Given the description of an element on the screen output the (x, y) to click on. 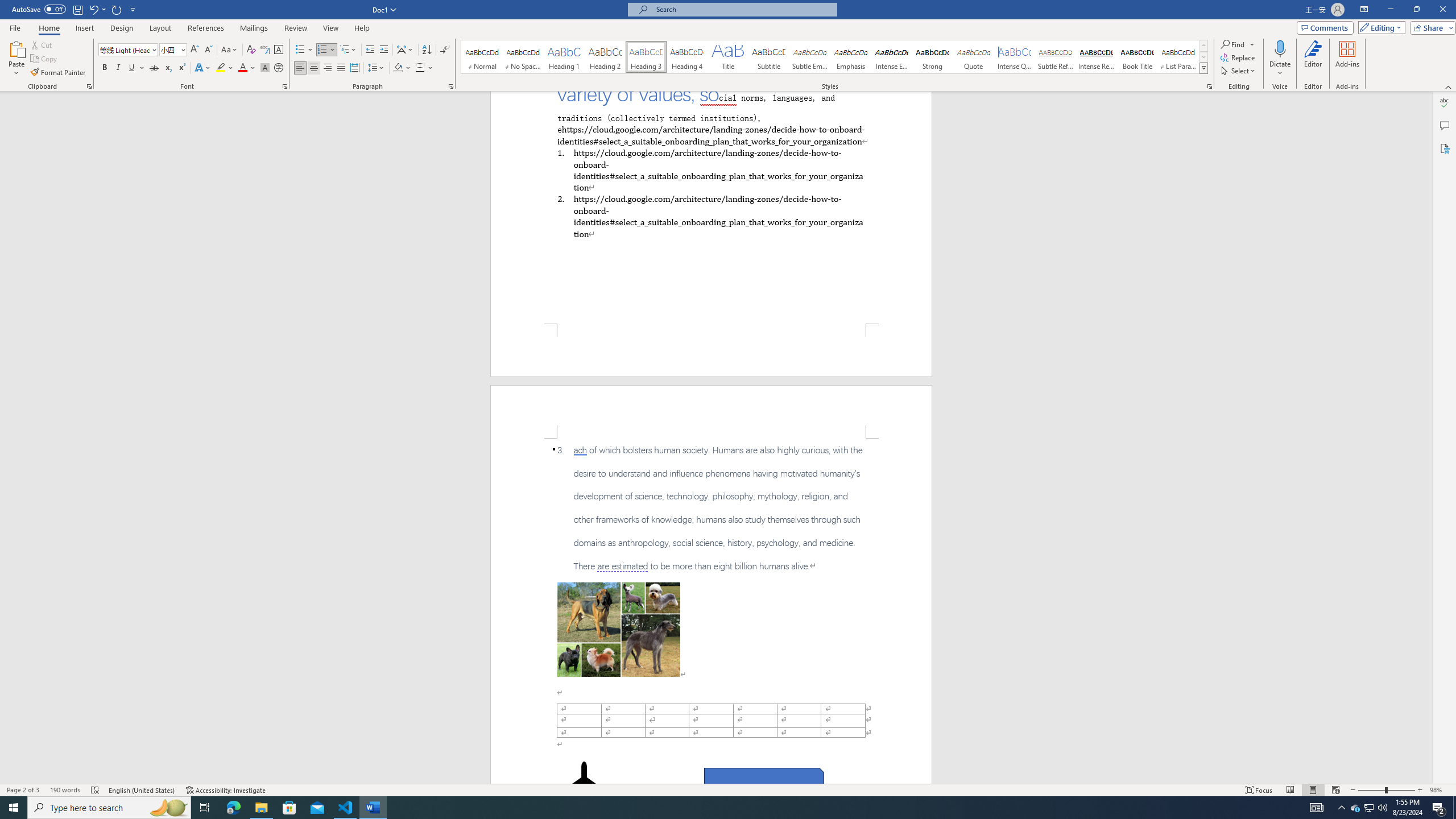
Subtitle (768, 56)
Heading 3 (646, 56)
Quote (973, 56)
